Given the description of an element on the screen output the (x, y) to click on. 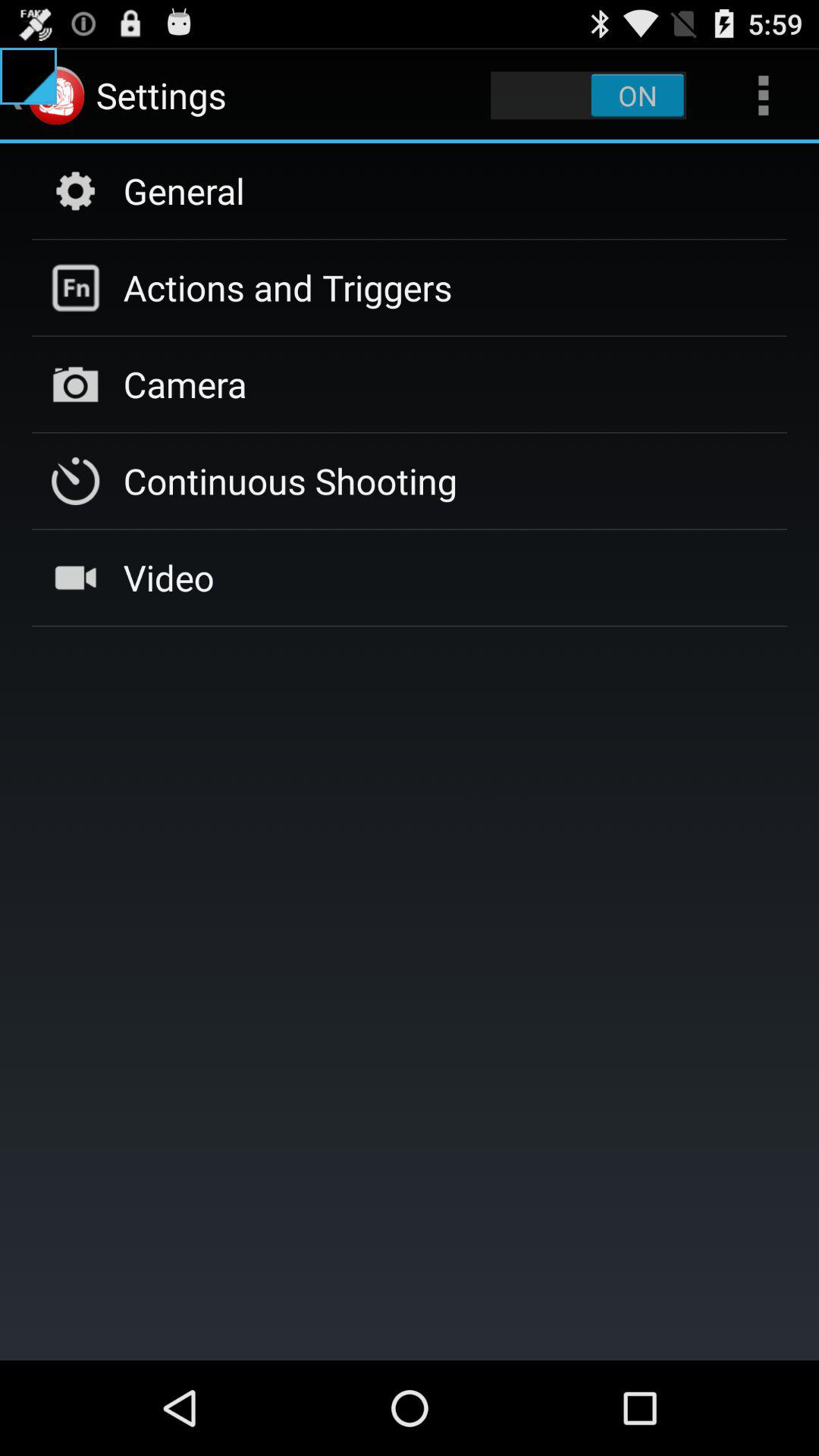
swipe until the general icon (183, 190)
